Given the description of an element on the screen output the (x, y) to click on. 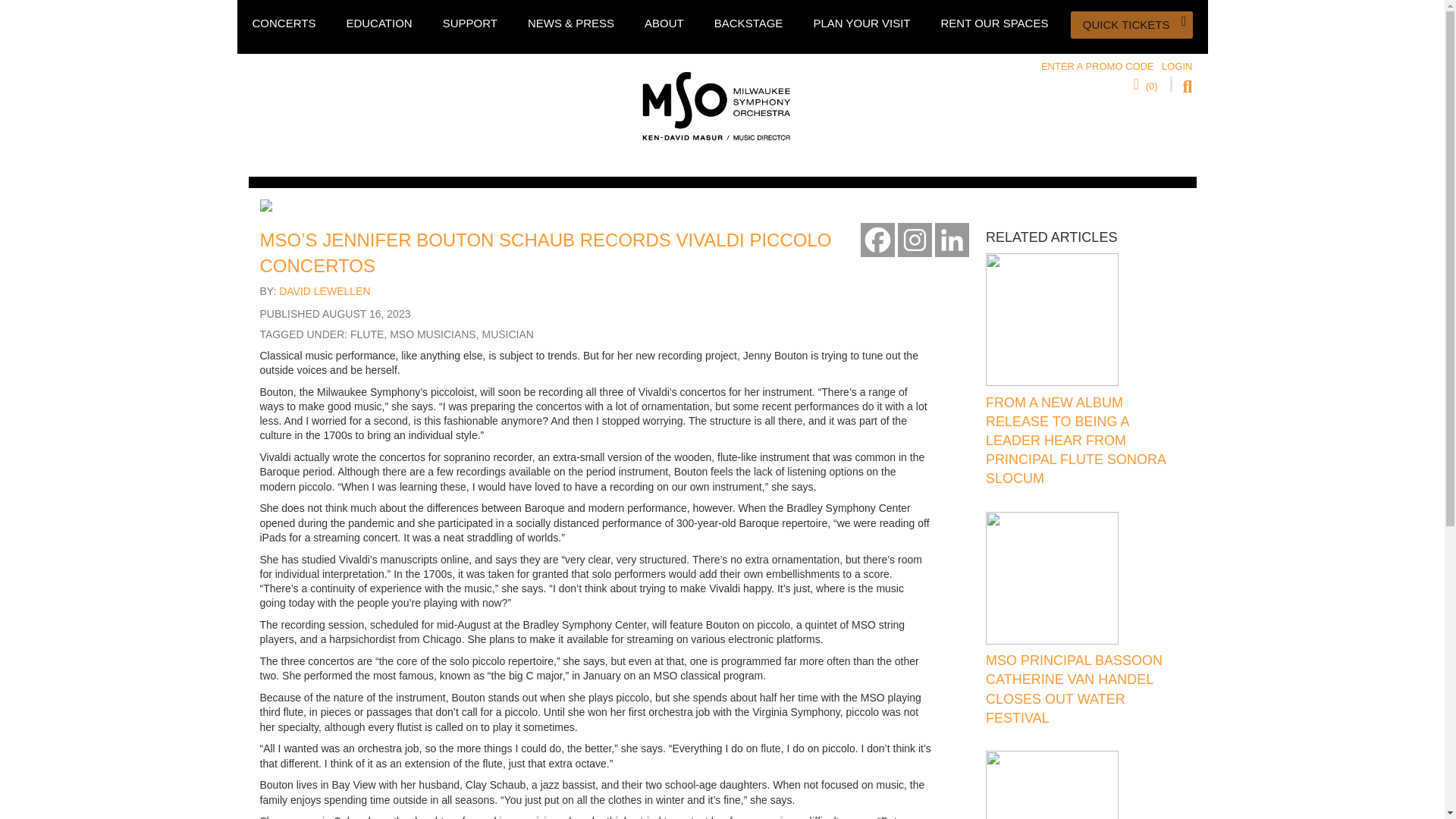
Instagram (914, 239)
EDUCATION (379, 22)
Linkedin (951, 239)
Facebook (877, 239)
CONCERTS (283, 22)
